Given the description of an element on the screen output the (x, y) to click on. 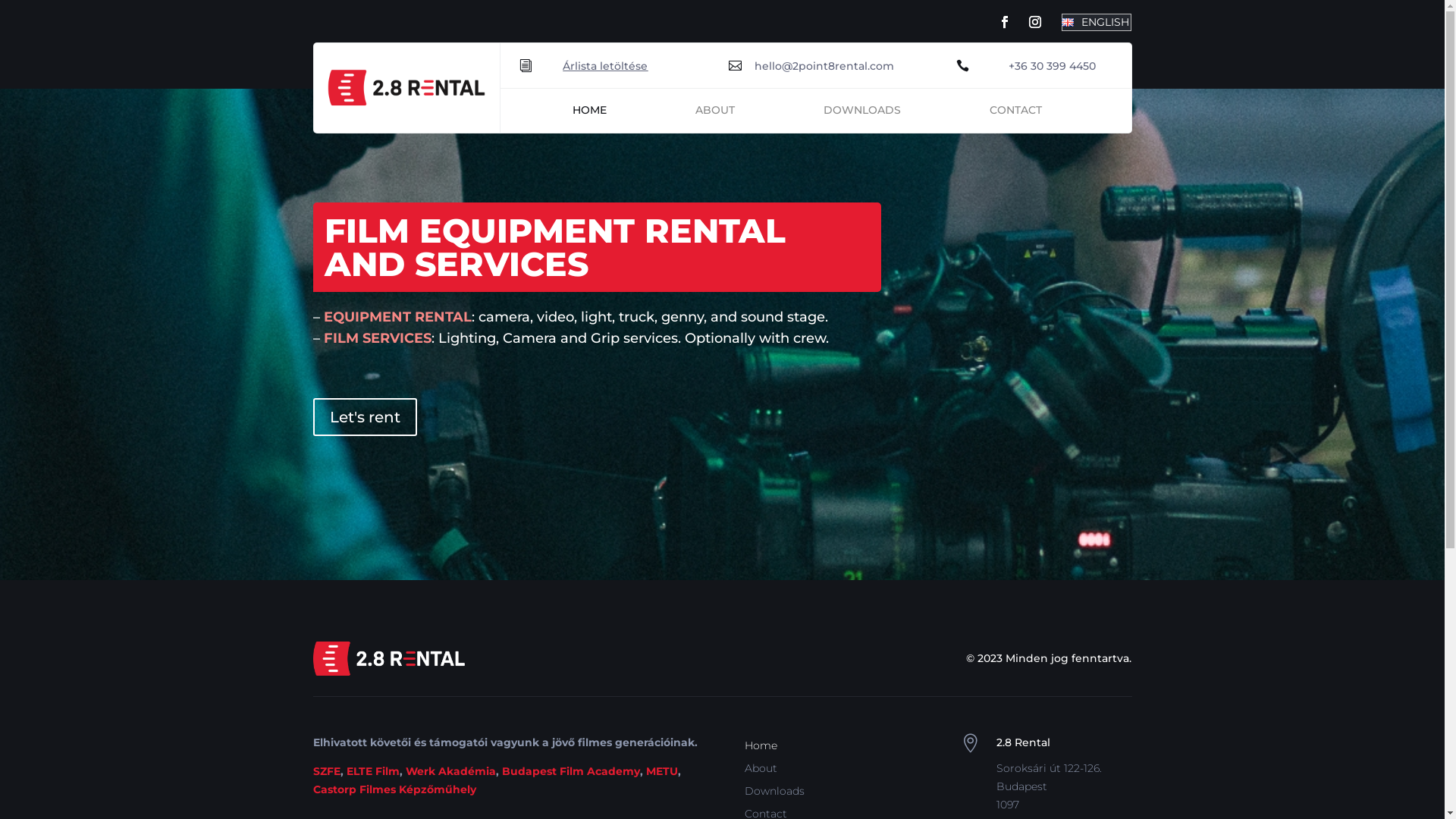
Downloads Element type: text (774, 793)
About Element type: text (760, 770)
RENTAL_LOGO_crop Element type: hover (406, 87)
+36 30 399 4450 Element type: text (1051, 65)
ELTE Film Element type: text (371, 771)
CONTACT Element type: text (1015, 112)
ABOUT Element type: text (714, 112)
hello@2point8rental.com Element type: text (824, 65)
DOWNLOADS Element type: text (861, 112)
Follow on Facebook Element type: hover (1004, 21)
HOME Element type: text (589, 112)
Budapest Film Academy Element type: text (571, 771)
i Element type: text (531, 65)
METU Element type: text (661, 771)
Follow on Instagram Element type: hover (1034, 21)
Let's rent Element type: text (364, 417)
SZFE Element type: text (325, 771)
Home Element type: text (760, 748)
